Given the description of an element on the screen output the (x, y) to click on. 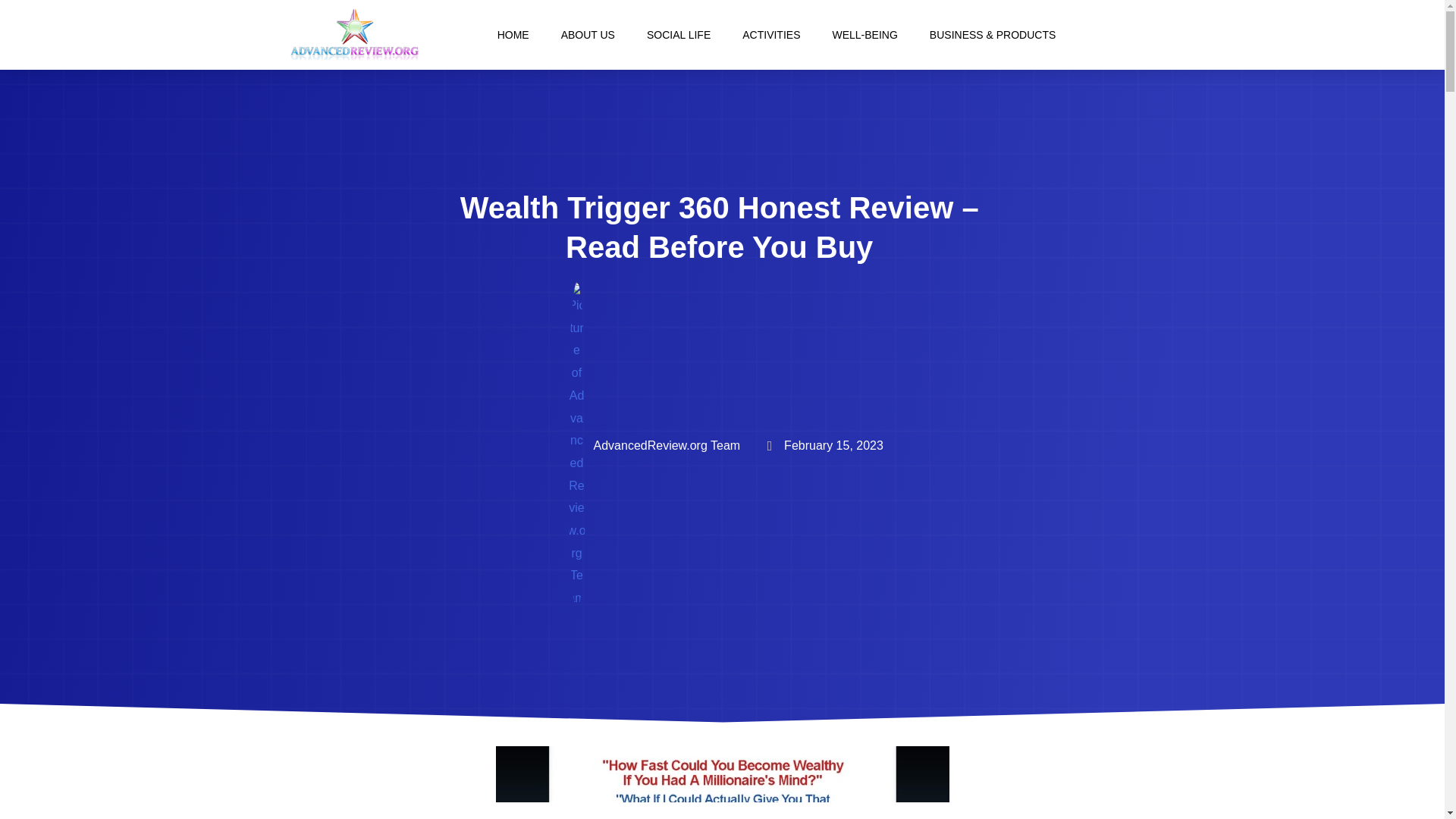
SOCIAL LIFE (678, 34)
ACTIVITIES (770, 34)
WELL-BEING (864, 34)
HOME (512, 34)
ABOUT US (588, 34)
